Given the description of an element on the screen output the (x, y) to click on. 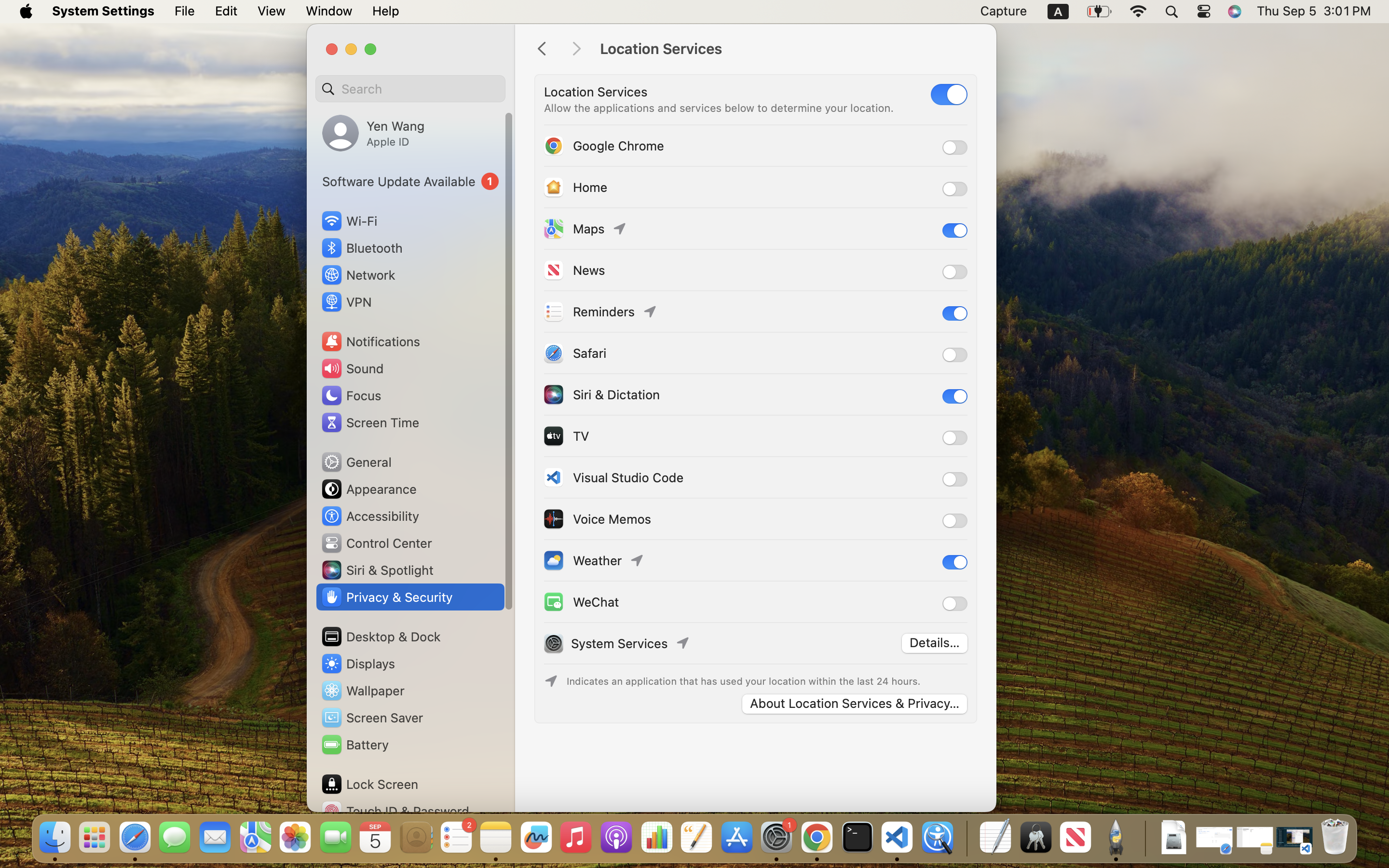
Notifications Element type: AXStaticText (370, 340)
WeChat Element type: AXStaticText (580, 601)
Siri & Dictation Element type: AXStaticText (600, 394)
Displays Element type: AXStaticText (357, 663)
Network Element type: AXStaticText (357, 274)
